Given the description of an element on the screen output the (x, y) to click on. 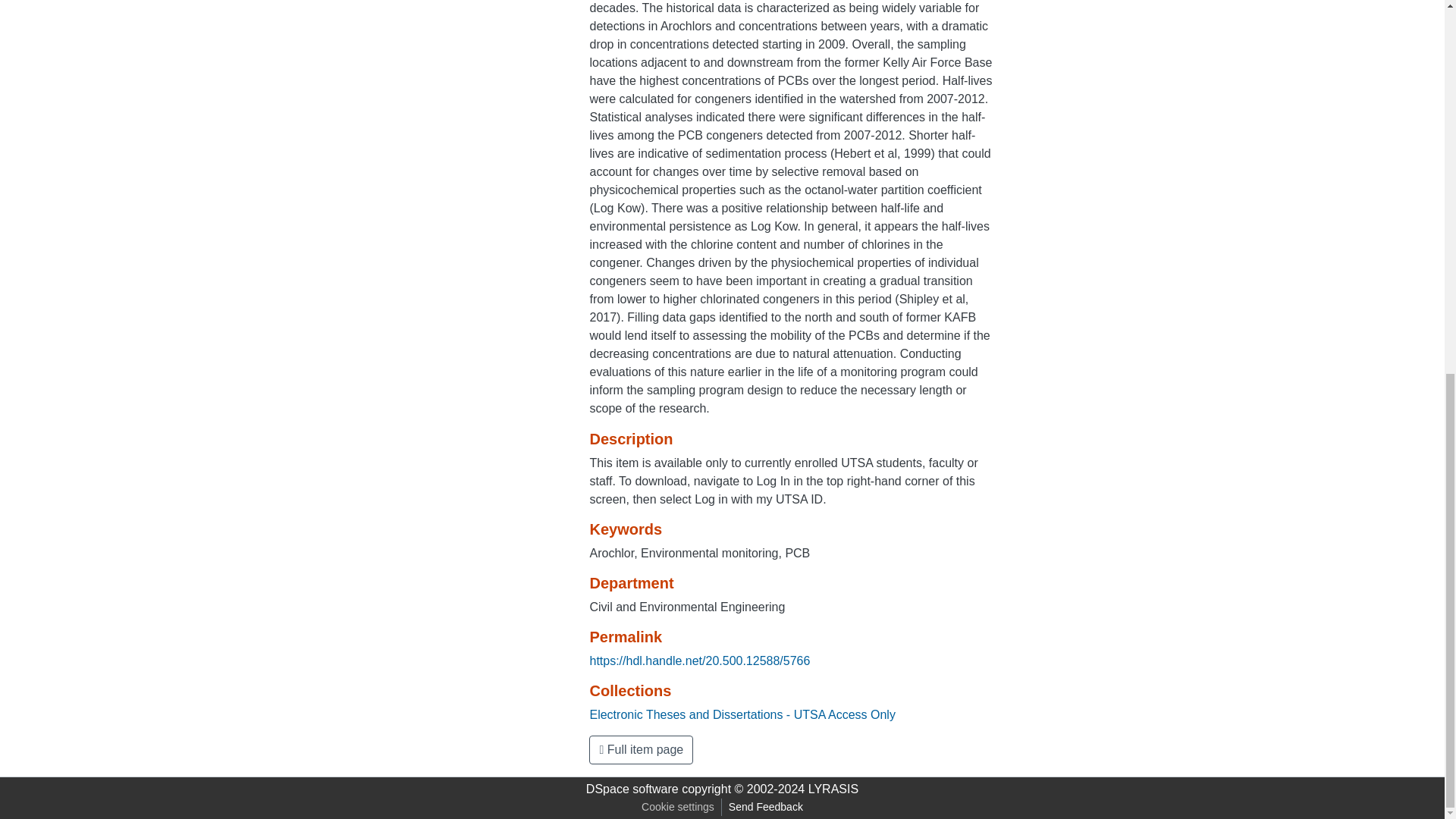
Electronic Theses and Dissertations - UTSA Access Only (742, 714)
Full item page (641, 749)
LYRASIS (833, 788)
DSpace software (632, 788)
Cookie settings (677, 806)
Send Feedback (765, 806)
